Given the description of an element on the screen output the (x, y) to click on. 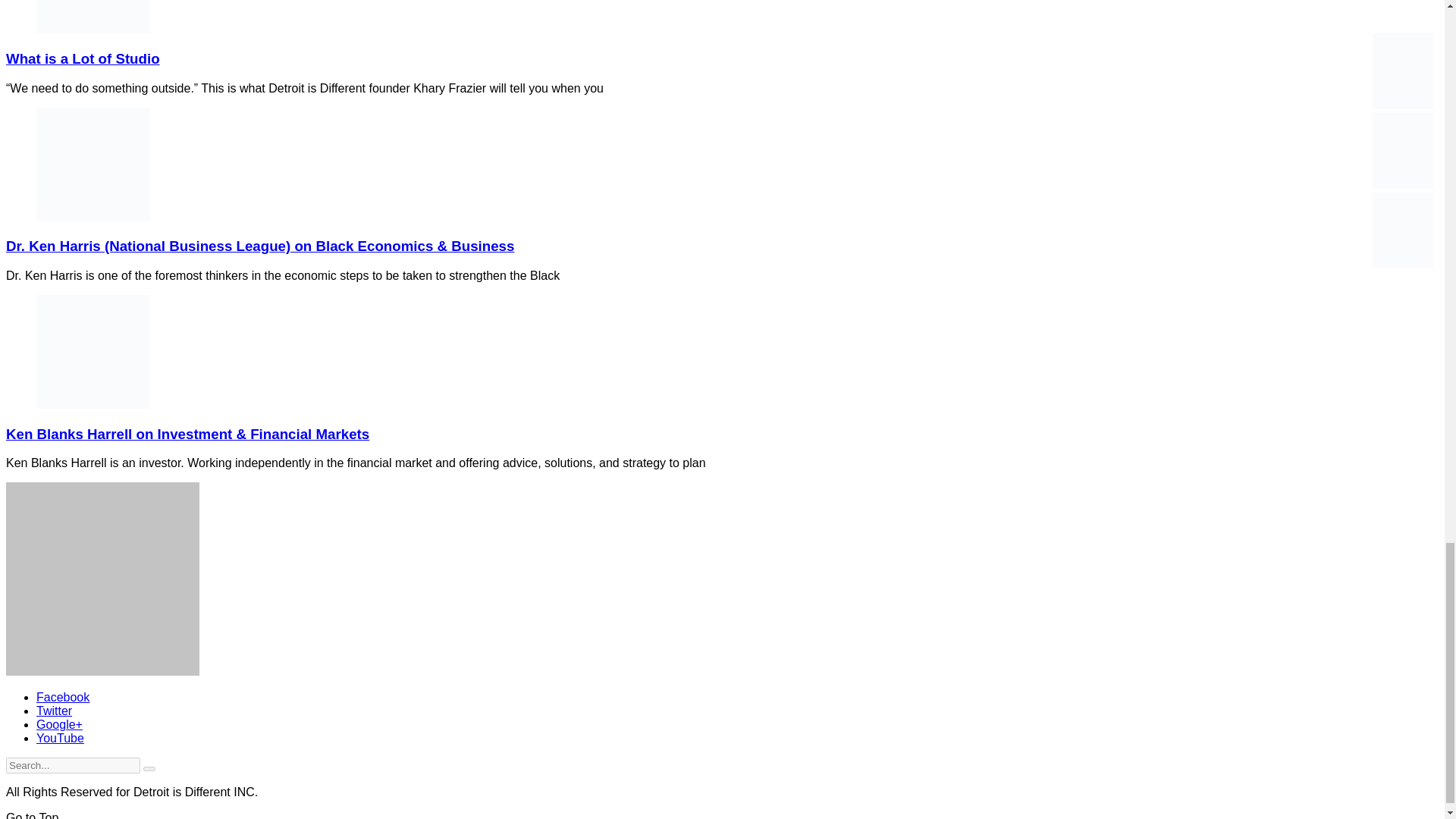
Facebook (62, 697)
What is a Lot of Studio (82, 58)
Twitter (53, 710)
Twitter (53, 710)
YouTube (60, 738)
YouTube (60, 738)
Facebook (62, 697)
